Given the description of an element on the screen output the (x, y) to click on. 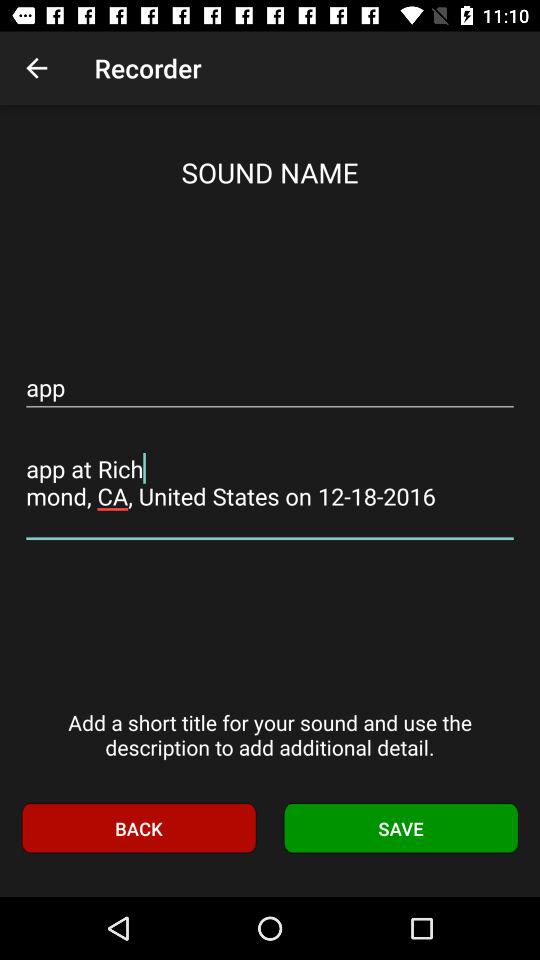
launch save item (401, 828)
